Given the description of an element on the screen output the (x, y) to click on. 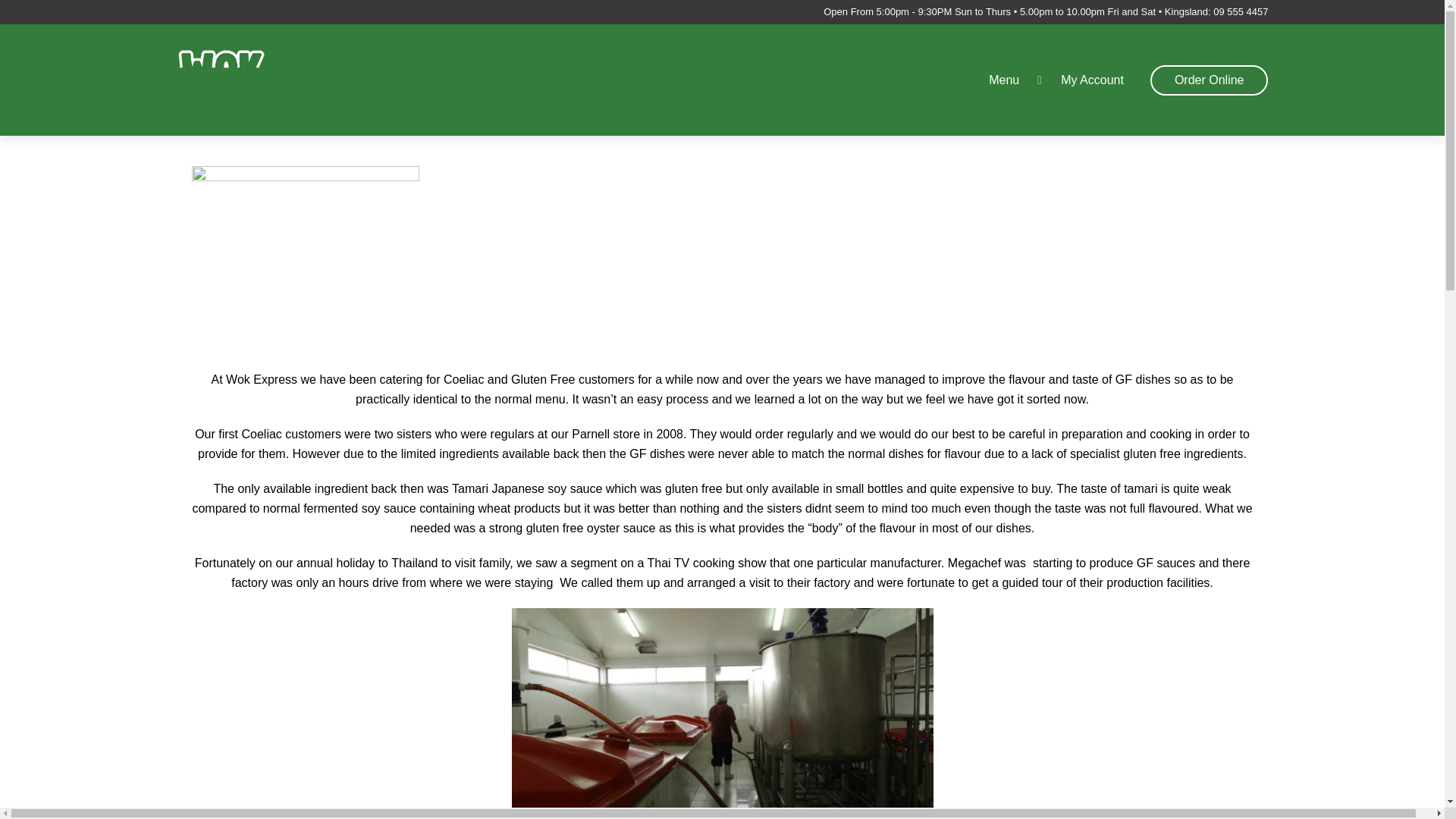
My Account (1092, 79)
Order Online (1209, 80)
Menu (1012, 79)
